Given the description of an element on the screen output the (x, y) to click on. 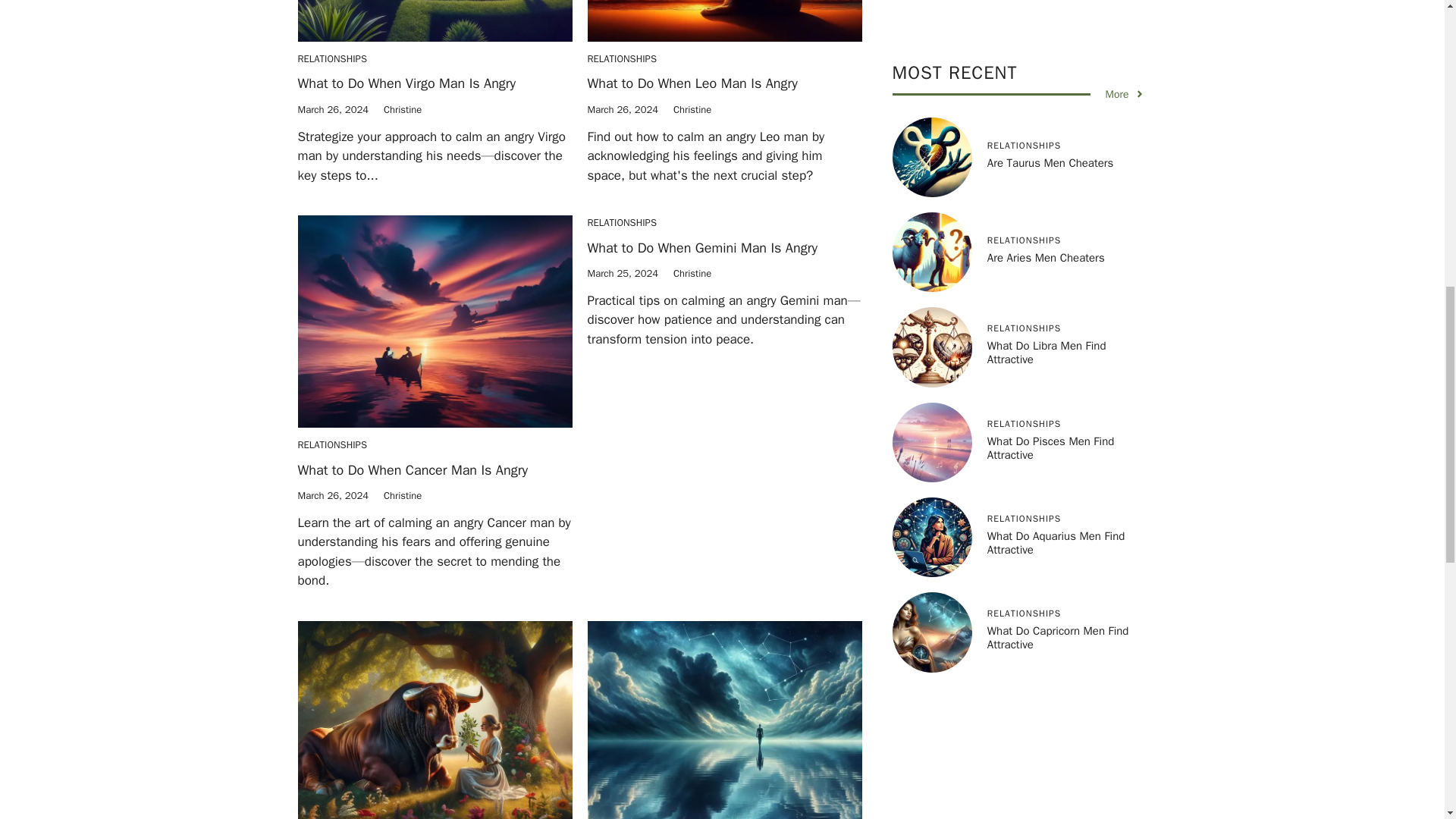
What to Do When Gemini Man Is Angry (701, 247)
RELATIONSHIPS (621, 222)
RELATIONSHIPS (621, 58)
What to Do When Cancer Man Is Angry (412, 469)
What to Do When Virgo Man Is Angry (406, 83)
What to Do When Leo Man Is Angry (691, 83)
RELATIONSHIPS (331, 444)
RELATIONSHIPS (331, 58)
